Given the description of an element on the screen output the (x, y) to click on. 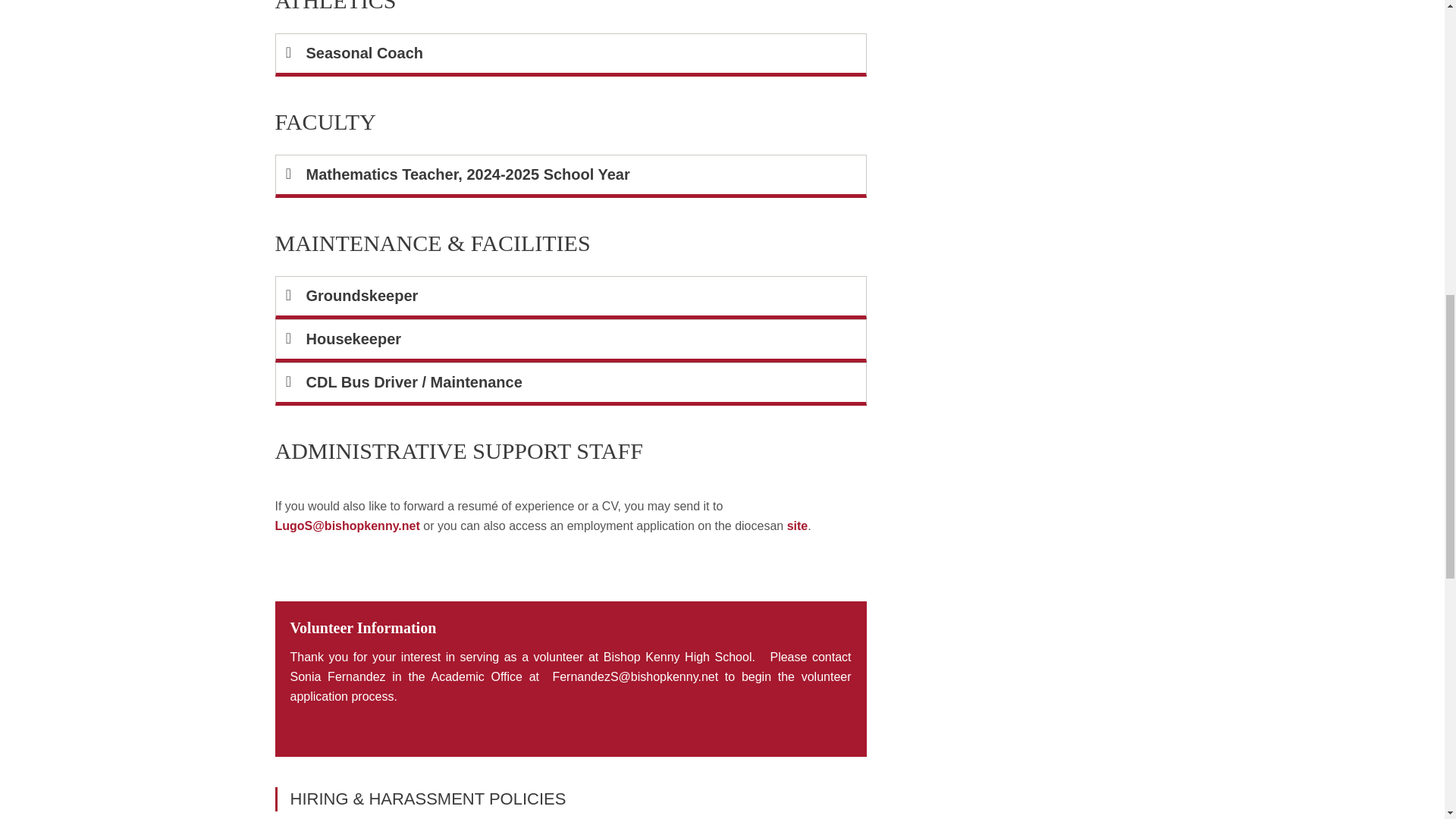
Employment at BKHS (347, 525)
